Given the description of an element on the screen output the (x, y) to click on. 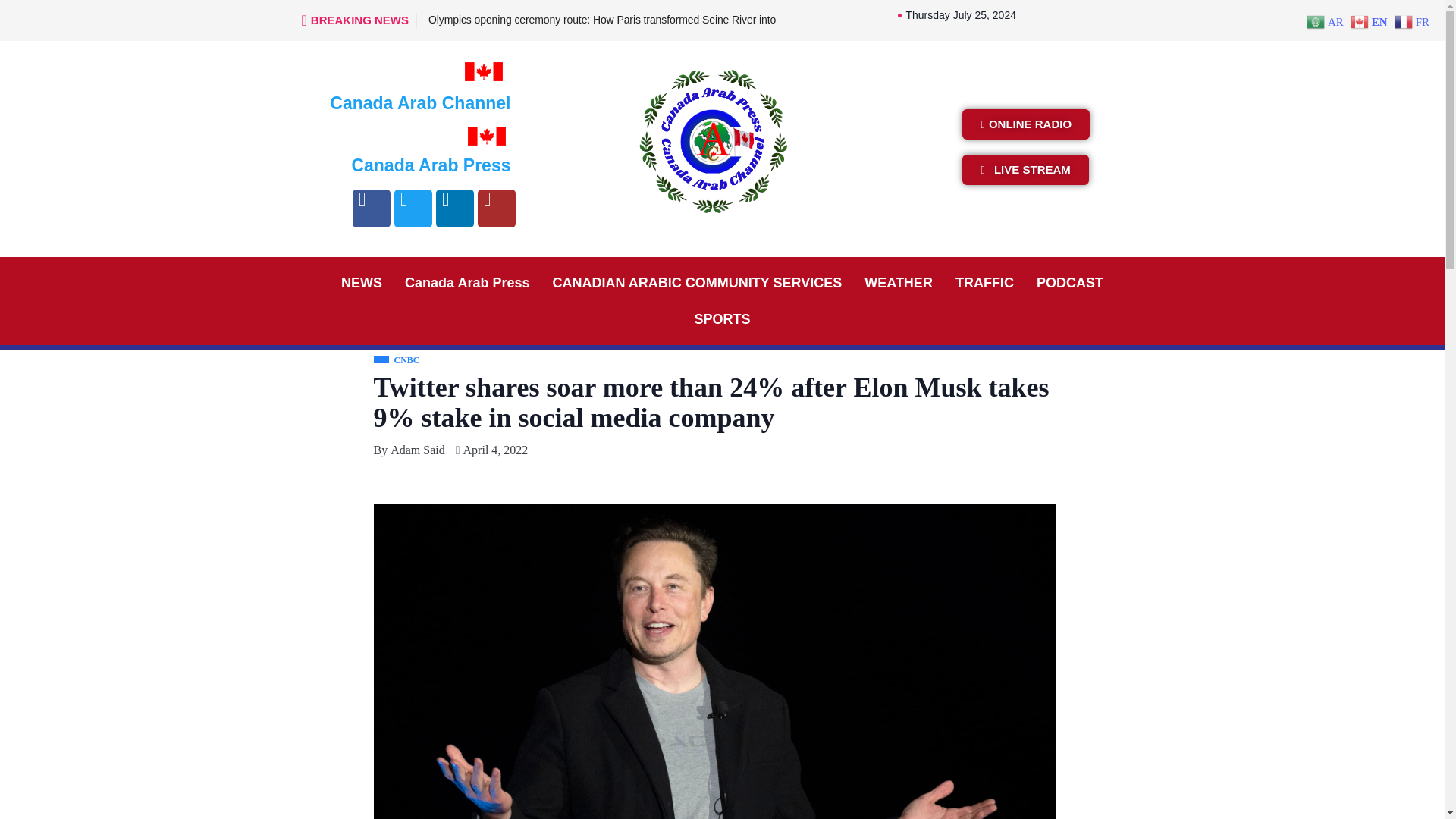
LIVE STREAM (1024, 169)
CANADIAN ARABIC COMMUNITY SERVICES (697, 282)
ONLINE RADIO (1025, 123)
WEATHER (898, 282)
TRAFFIC (984, 282)
PODCAST (1070, 282)
NEWS (361, 282)
Canada Arab Press (466, 282)
SPORTS (721, 319)
